Given the description of an element on the screen output the (x, y) to click on. 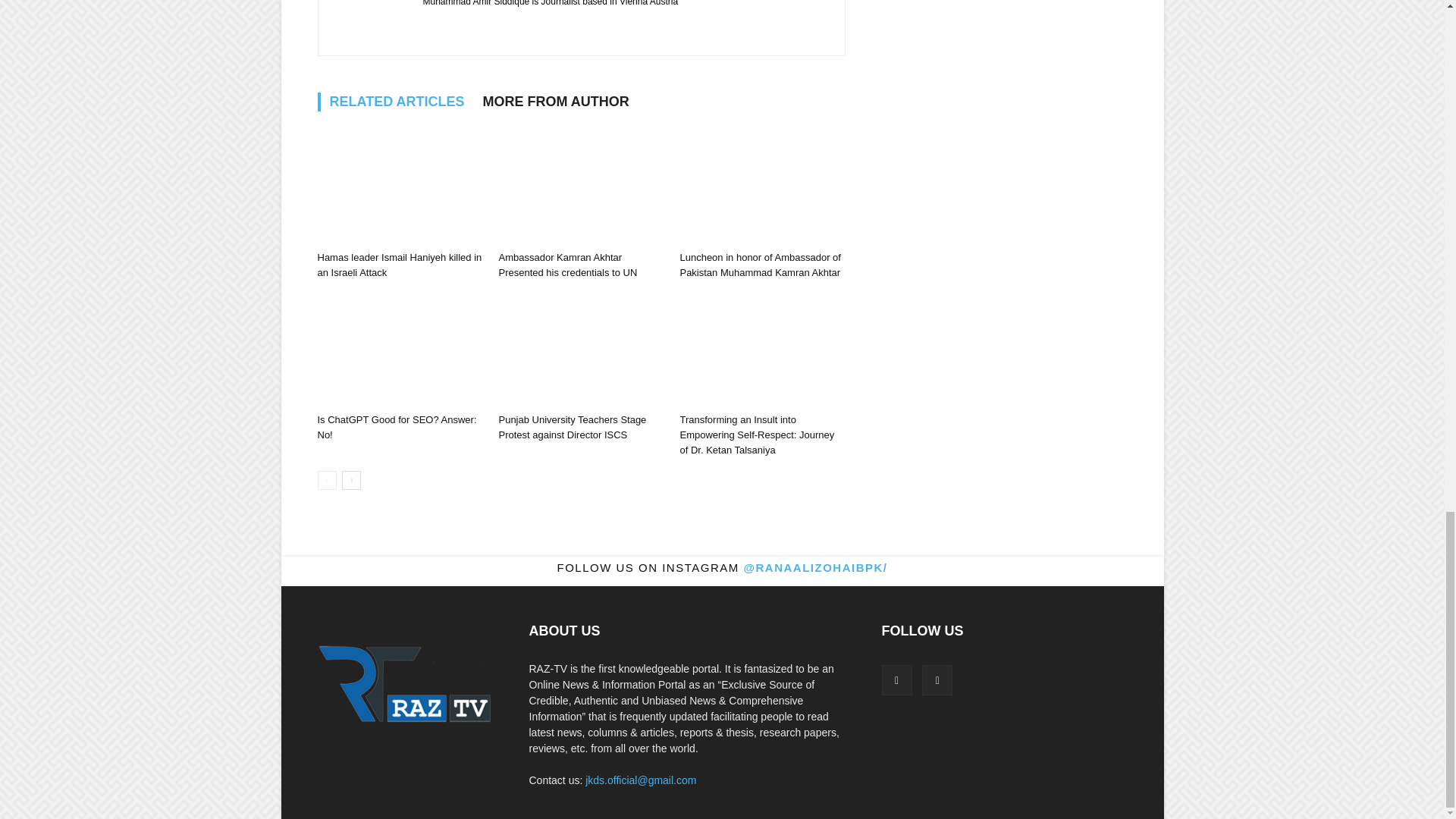
Ambassador Kamran Akhtar Met with President OPEC Fund (398, 242)
Hamas leader Ismail Haniyeh killed in an Israeli Attack (761, 164)
Ambassador Kamran Akhtar Met with President OPEC Fund (399, 164)
